Given the description of an element on the screen output the (x, y) to click on. 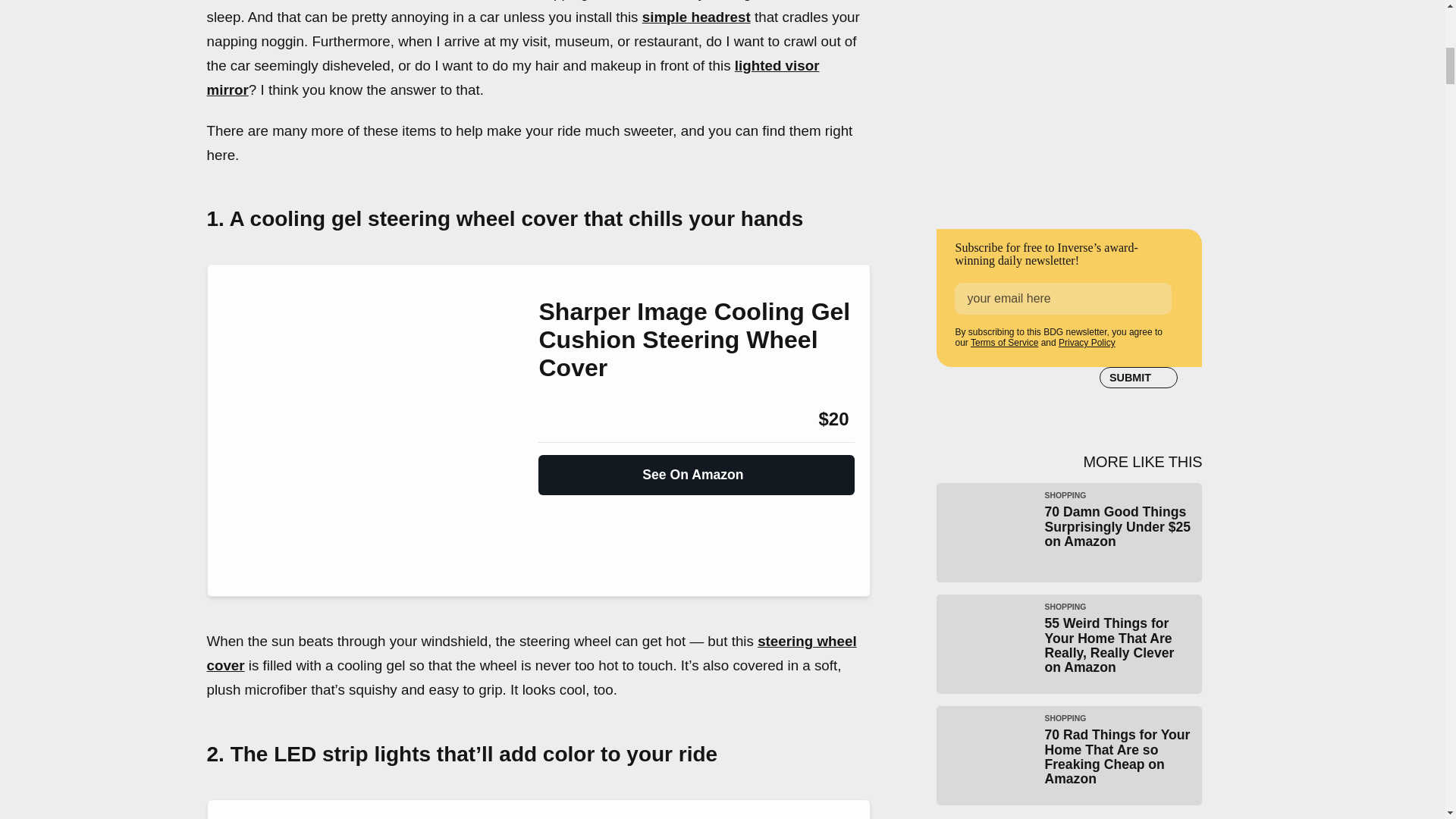
lighted visor mirror (512, 77)
Echo Auto (262, 0)
Amazon (579, 419)
steering wheel cover (531, 653)
simple headrest (696, 17)
See On Amazon (696, 468)
